Given the description of an element on the screen output the (x, y) to click on. 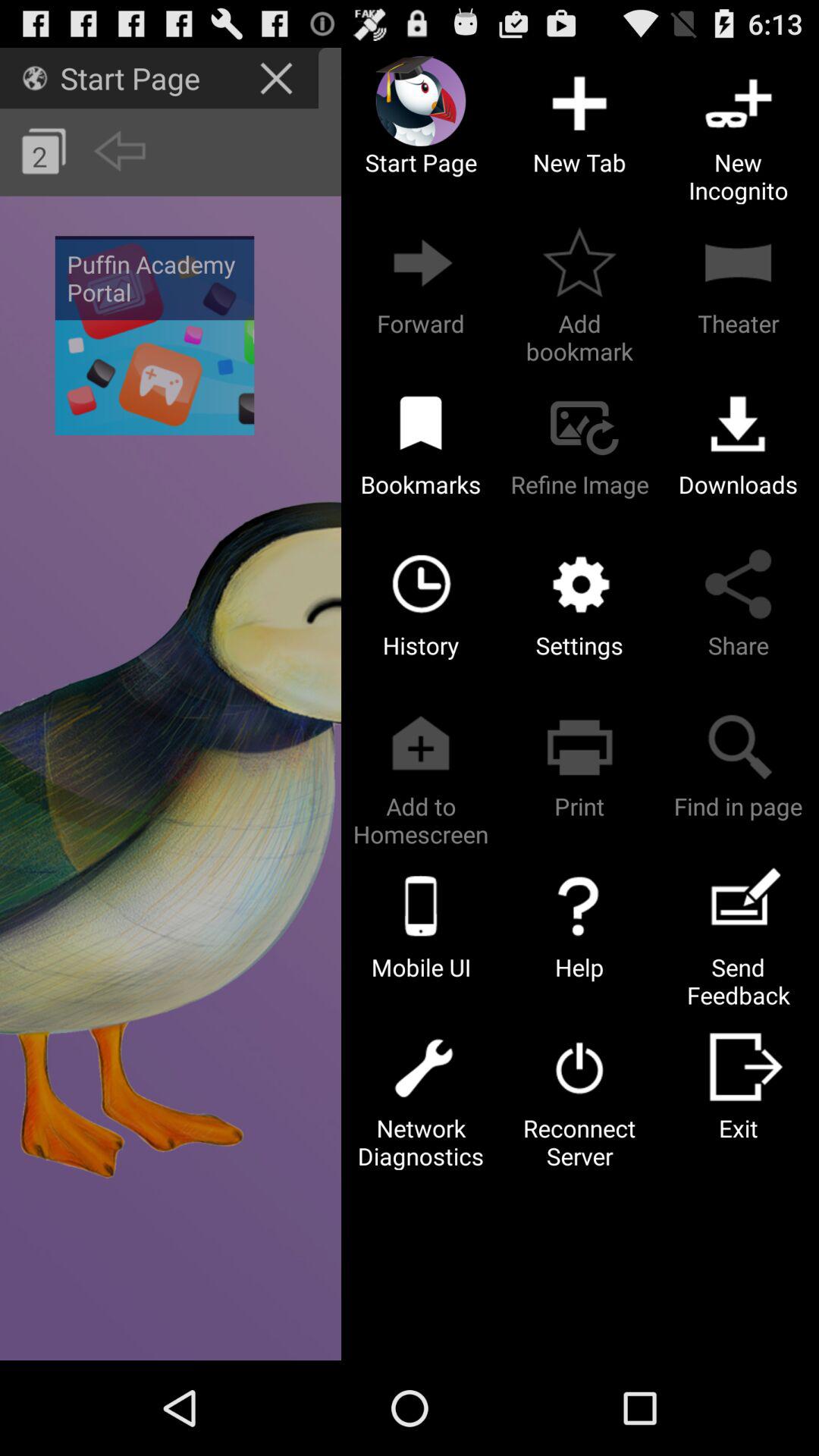
click on the button which is above the bookmarks (420, 261)
click on bookmarks (421, 452)
click the icon above bookmarks (420, 422)
click the  new tab option (579, 101)
select the icon beside start page (34, 77)
click on cross sign right to start page (278, 77)
click the setting icon above network diagnostics (420, 1067)
